Given the description of an element on the screen output the (x, y) to click on. 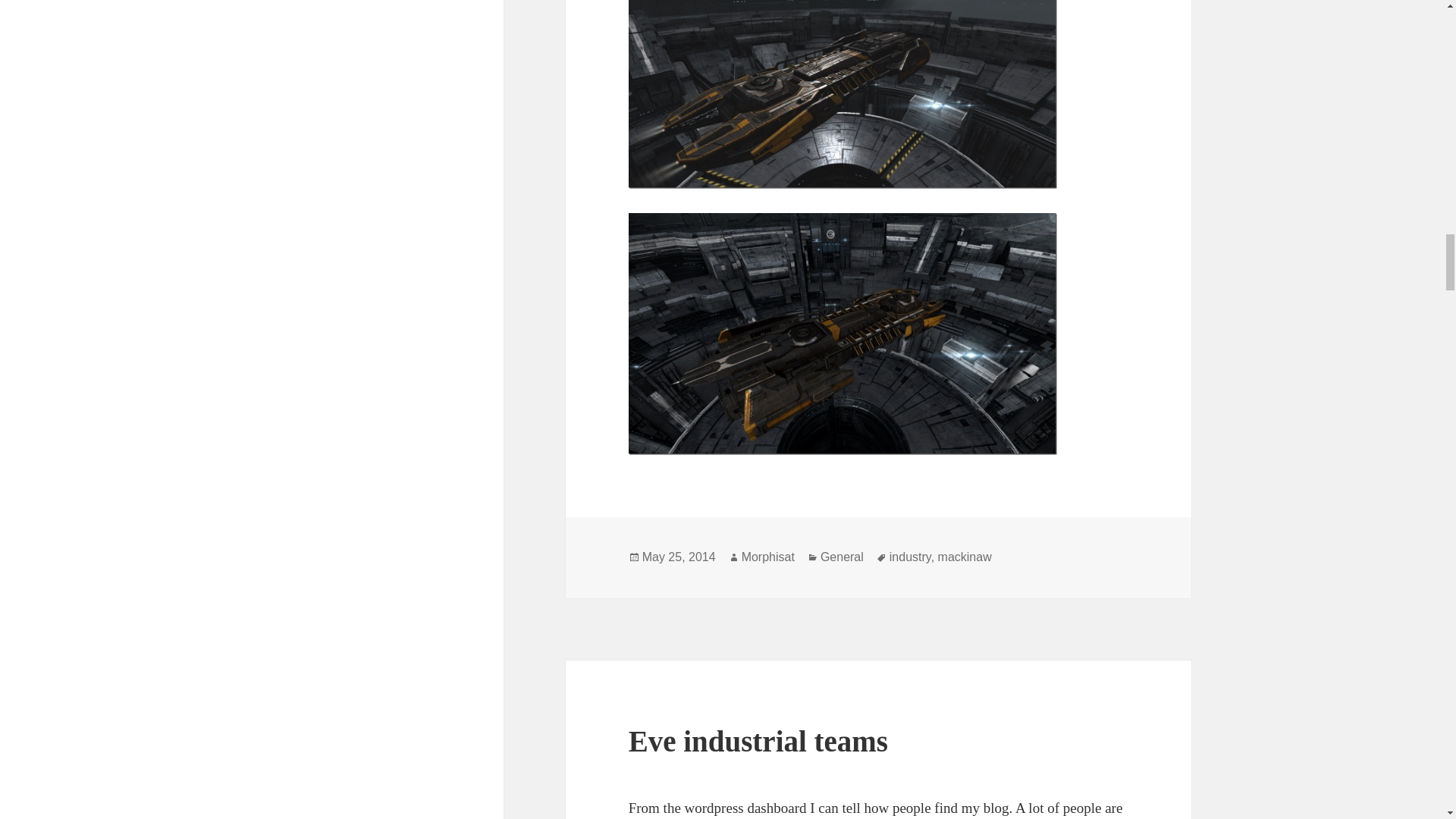
Mackinaw ORE Development Edition (842, 333)
Mackinaw ORE Development Edition (842, 94)
